Given the description of an element on the screen output the (x, y) to click on. 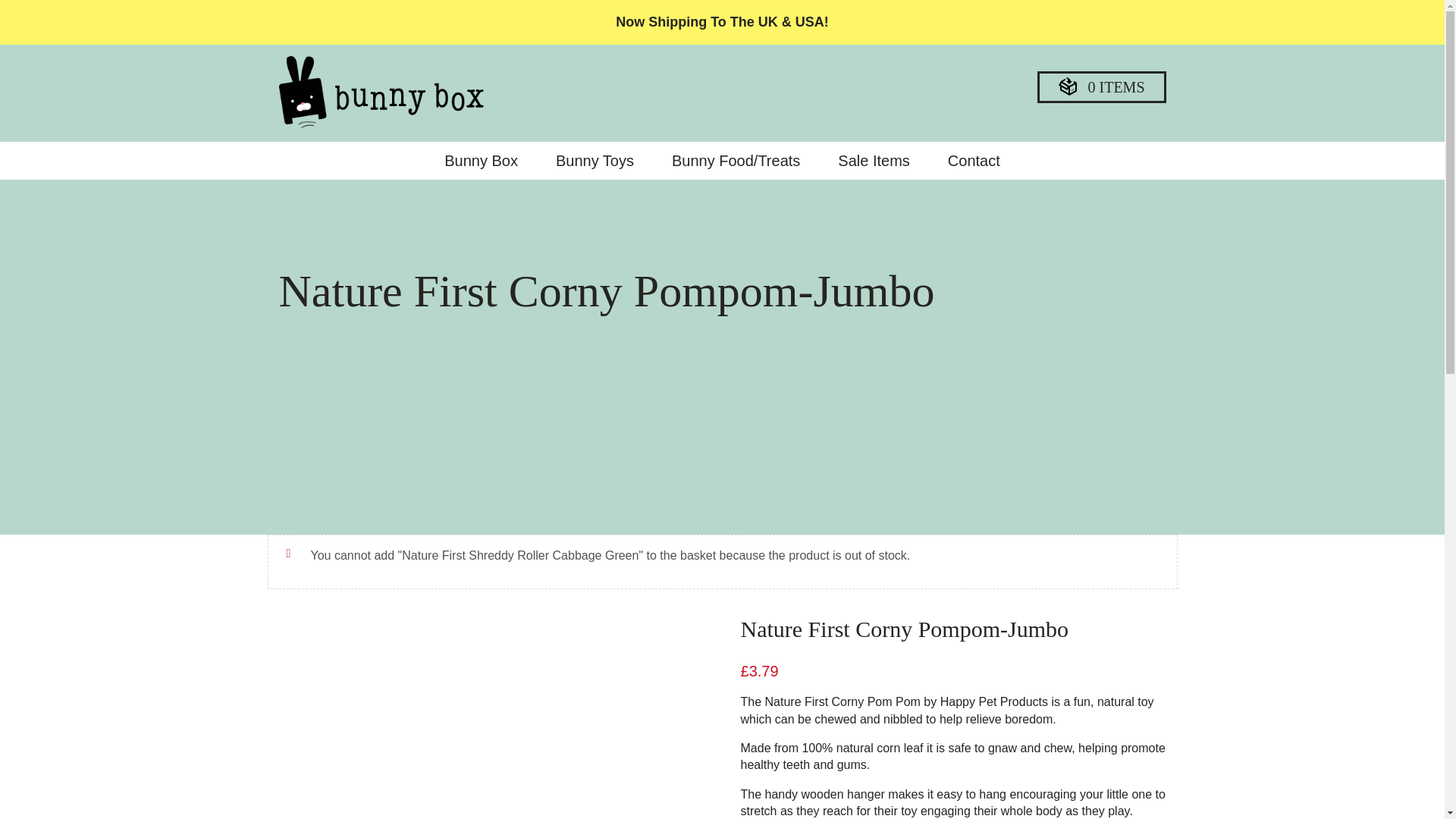
Bunny Toys (594, 160)
Sale Items (873, 160)
0 ITEMS (1101, 87)
Contact (973, 160)
Bunny Box (481, 160)
